Given the description of an element on the screen output the (x, y) to click on. 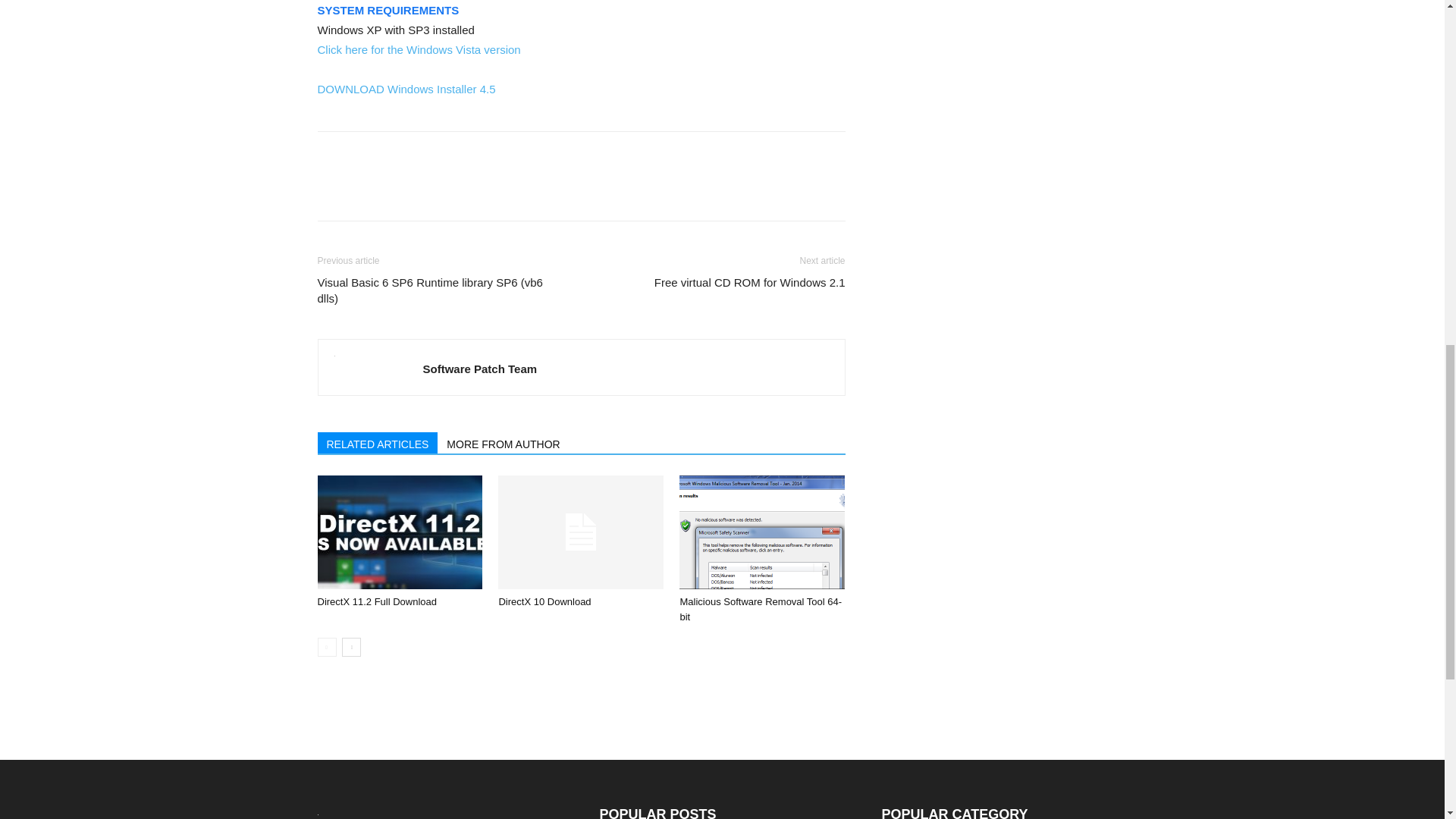
DirectX 11.2 Full Download (376, 601)
DOWNLOAD Windows Installer 4.5 (406, 88)
bottomFacebookLike (430, 155)
Click here for the Windows Vista version (418, 49)
Free virtual CD ROM for Windows 2.1 (749, 282)
DirectX 11.2 Full Download (399, 531)
